Given the description of an element on the screen output the (x, y) to click on. 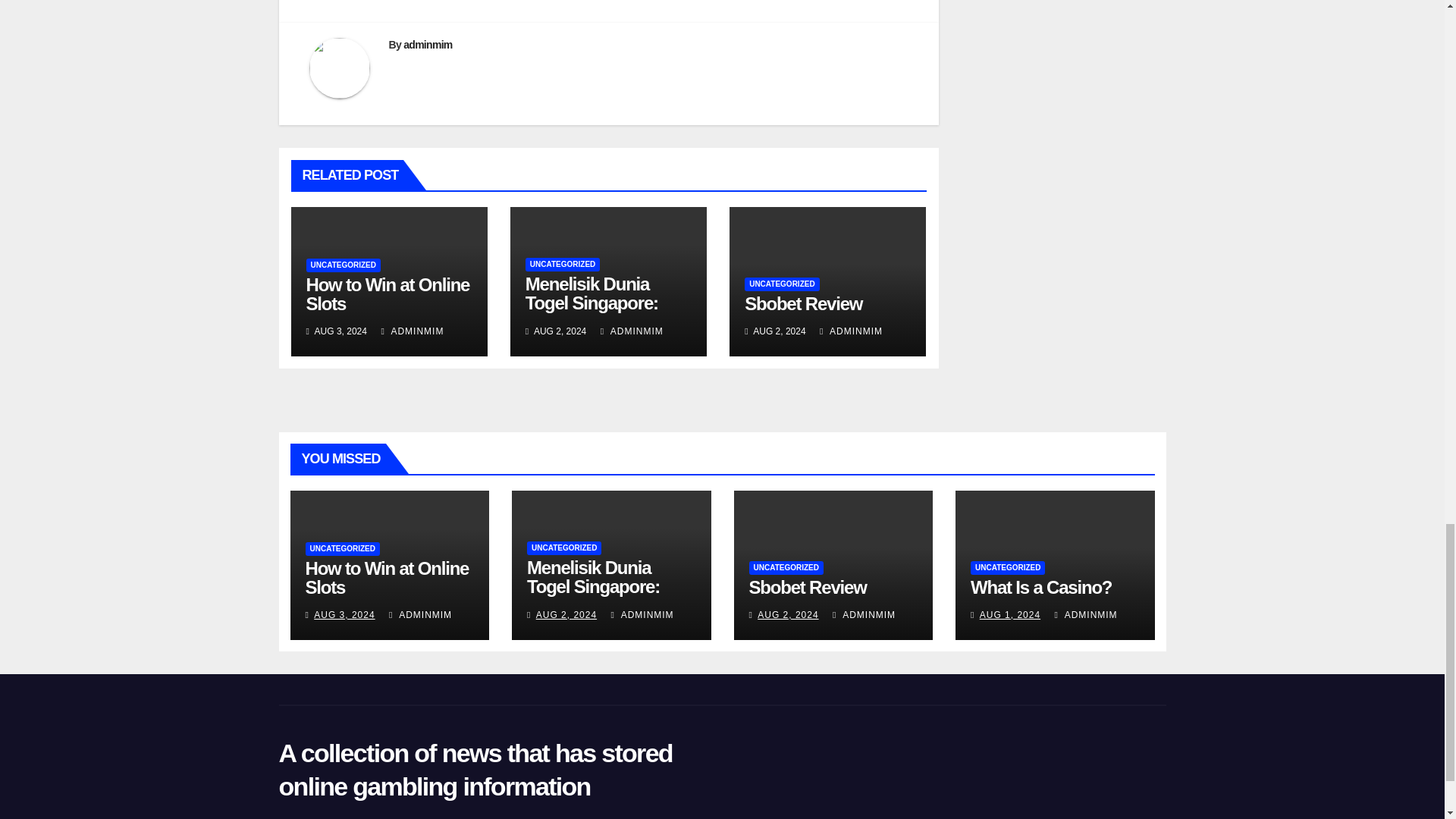
ADMINMIM (850, 330)
UNCATEGORIZED (342, 264)
How to Win at Online Slots (387, 293)
adminmim (427, 44)
UNCATEGORIZED (562, 264)
ADMINMIM (412, 330)
Permalink to: Sbobet Review (802, 303)
UNCATEGORIZED (781, 284)
Permalink to: What Is a Casino? (1041, 587)
Permalink to: Sbobet Review (807, 587)
ADMINMIM (631, 330)
Sbobet Review (802, 303)
